Given the description of an element on the screen output the (x, y) to click on. 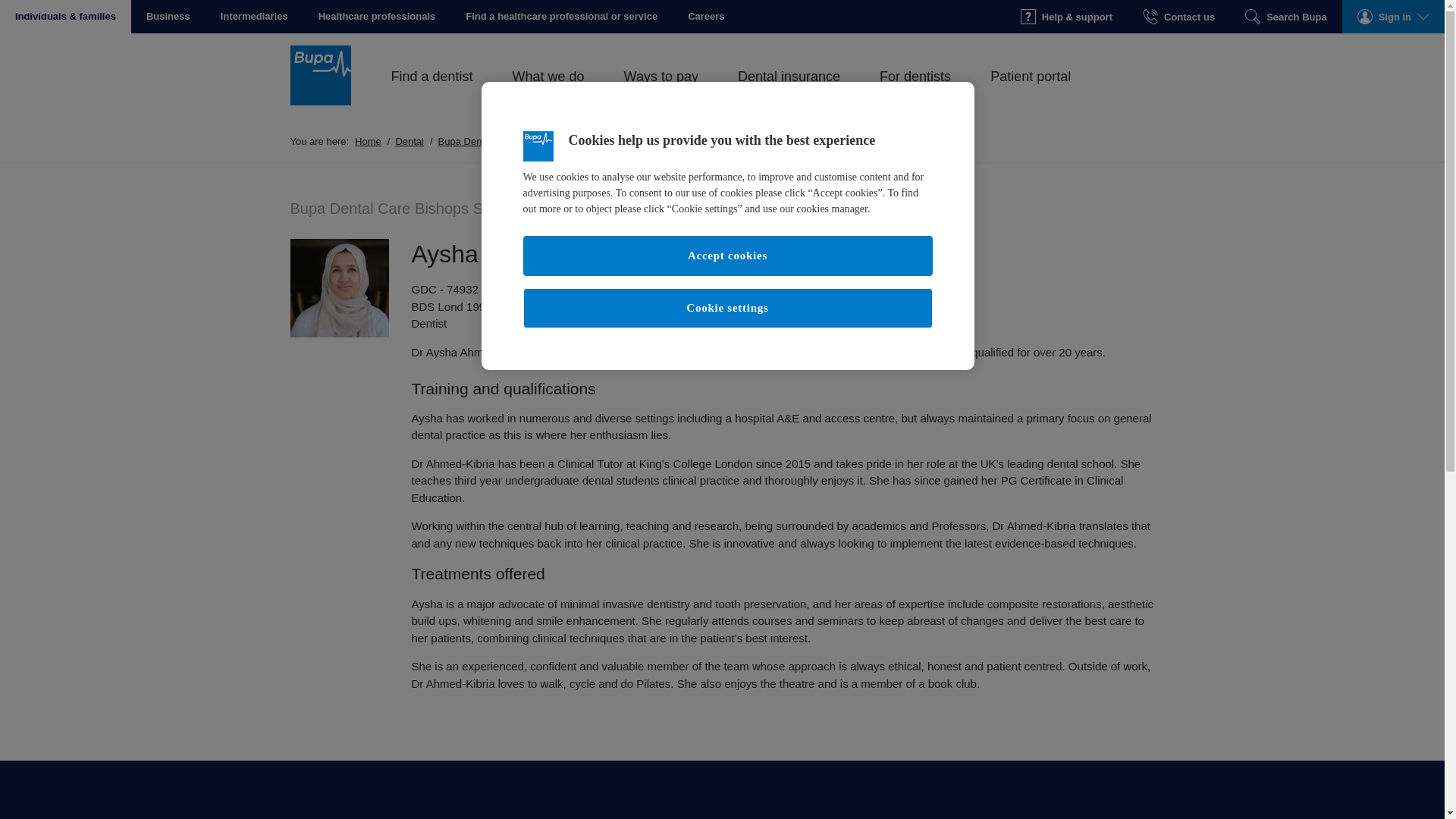
For dentists (915, 92)
Opens in a new window (705, 16)
Healthcare professionals (376, 16)
opens in a new window (560, 16)
Find a dentist (432, 92)
Dental insurance (788, 92)
Contact us (1178, 16)
Intermediaries (253, 16)
Patient portal (1030, 92)
What we do (548, 92)
Careers (705, 16)
Find a healthcare professional or service (560, 16)
Business (168, 16)
Search Bupa (1285, 16)
Ways to pay (660, 92)
